Given the description of an element on the screen output the (x, y) to click on. 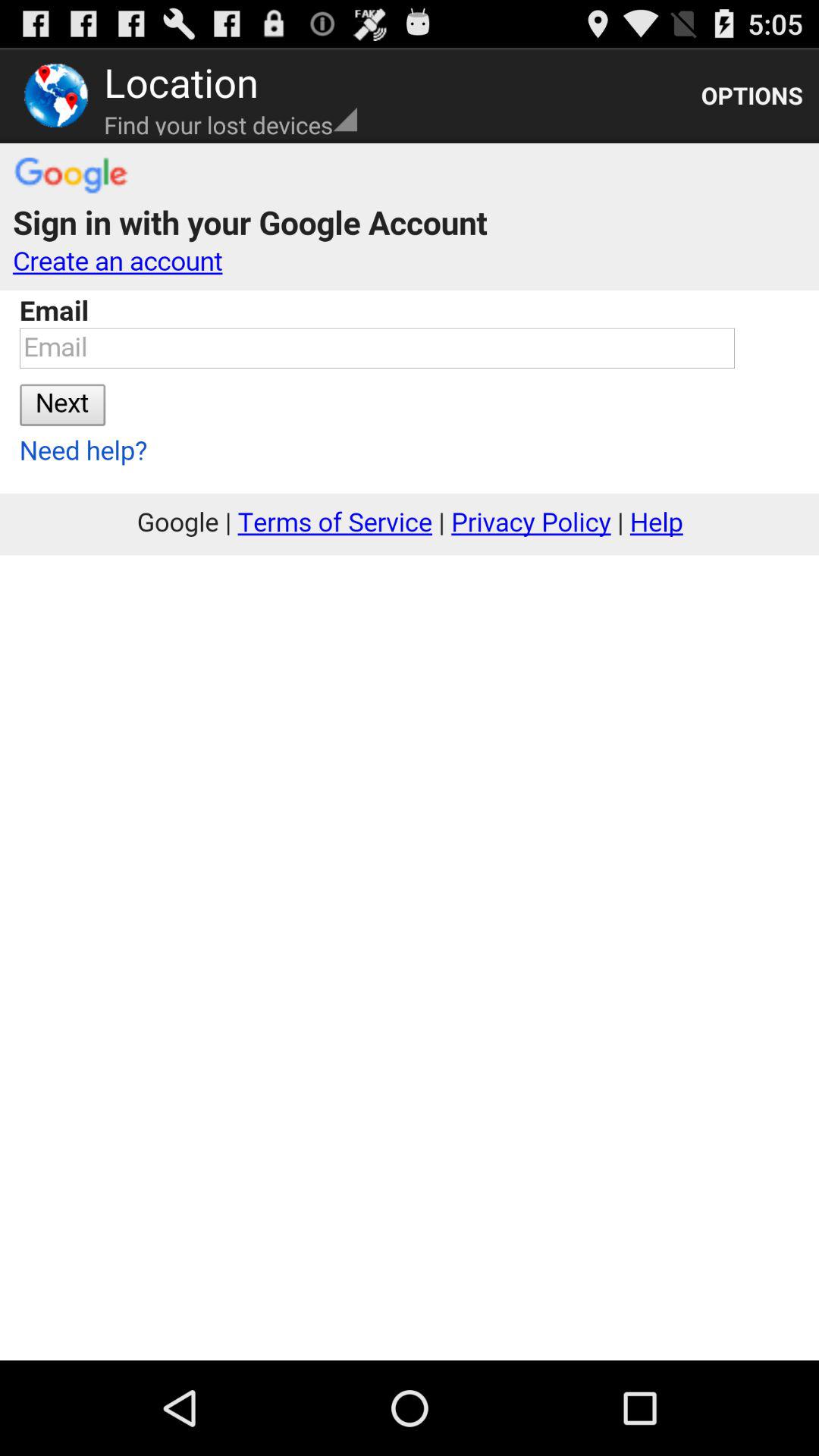
page to sign in with your google account (409, 751)
